Given the description of an element on the screen output the (x, y) to click on. 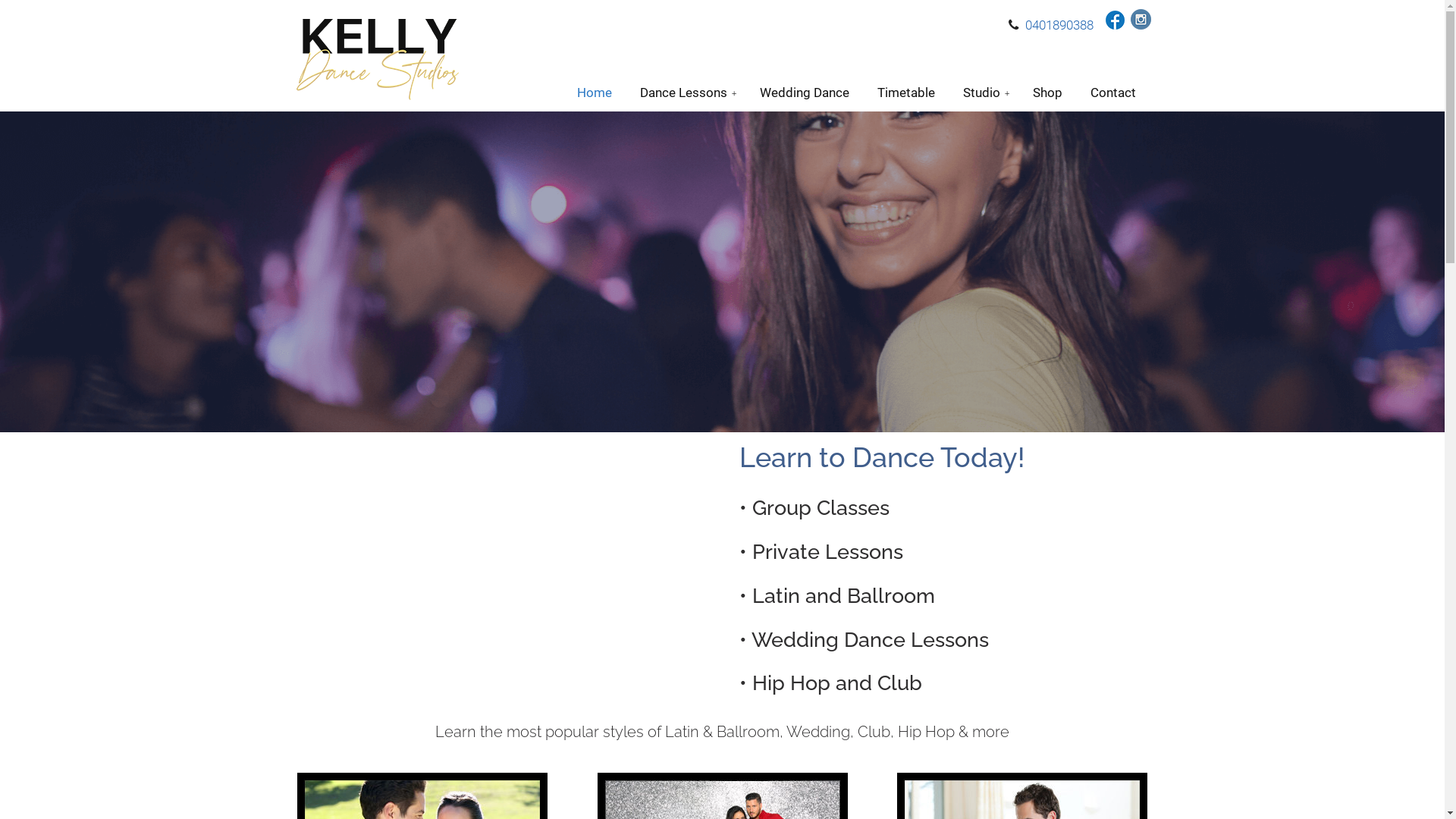
Contact Element type: text (1113, 92)
0401890388 Element type: text (1059, 24)
Timetable Element type: text (905, 92)
Home Element type: text (593, 92)
Wedding Dance Element type: text (804, 92)
Studio Element type: text (983, 92)
Shop Element type: text (1047, 92)
Dance Lessons Element type: text (685, 92)
